Given the description of an element on the screen output the (x, y) to click on. 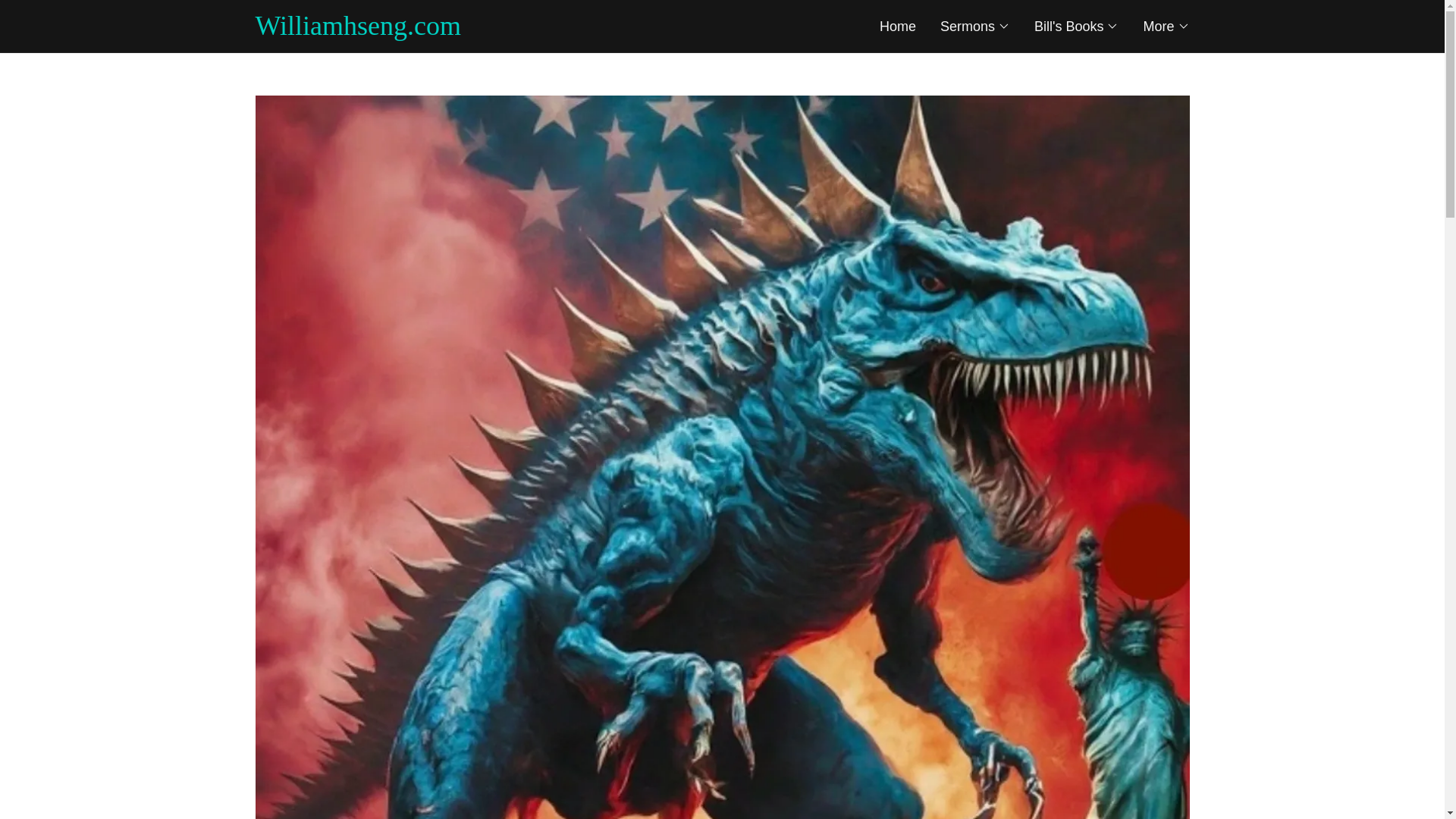
Sermons (975, 25)
Home (897, 25)
More (1165, 25)
Williamhseng.com (488, 29)
Bill's Books (1075, 25)
Williamhseng.com (488, 29)
